Given the description of an element on the screen output the (x, y) to click on. 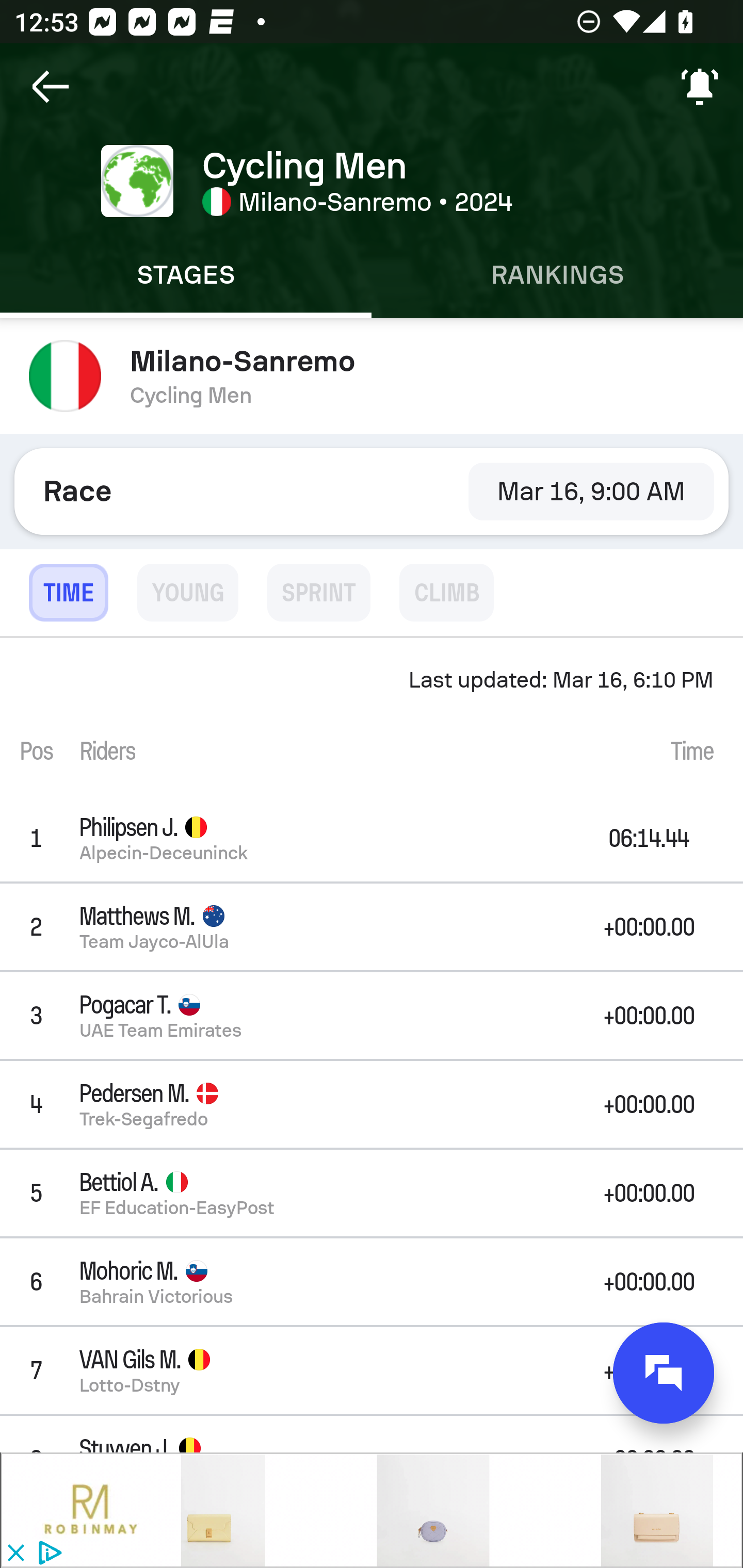
Navigate up (50, 86)
Rankings RANKINGS (557, 275)
Race Mar 16, 9:00 AM (371, 491)
Mar 16, 9:00 AM (591, 491)
TIME (68, 592)
Last updated: Mar 16, 6:10 PM Pos Riders Time (371, 716)
1 Philipsen J. Alpecin-Deceuninck 06:14.44 (371, 837)
2 Matthews M. Team Jayco-AlUla +00:00.00 (371, 926)
3 Pogacar T. UAE Team Emirates +00:00.00 (371, 1015)
4 Pedersen M. Trek-Segafredo +00:00.00 (371, 1104)
5 Bettiol A. EF Education-EasyPost +00:00.00 (371, 1192)
6 Mohoric M. Bahrain Victorious +00:00.00 (371, 1281)
CHAT (663, 1372)
7 VAN Gils M. Lotto-Dstny +00:00.00 (371, 1370)
privacy_small close_button                      (371, 1509)
close_button (14, 1553)
privacy_small (47, 1553)
